Given the description of an element on the screen output the (x, y) to click on. 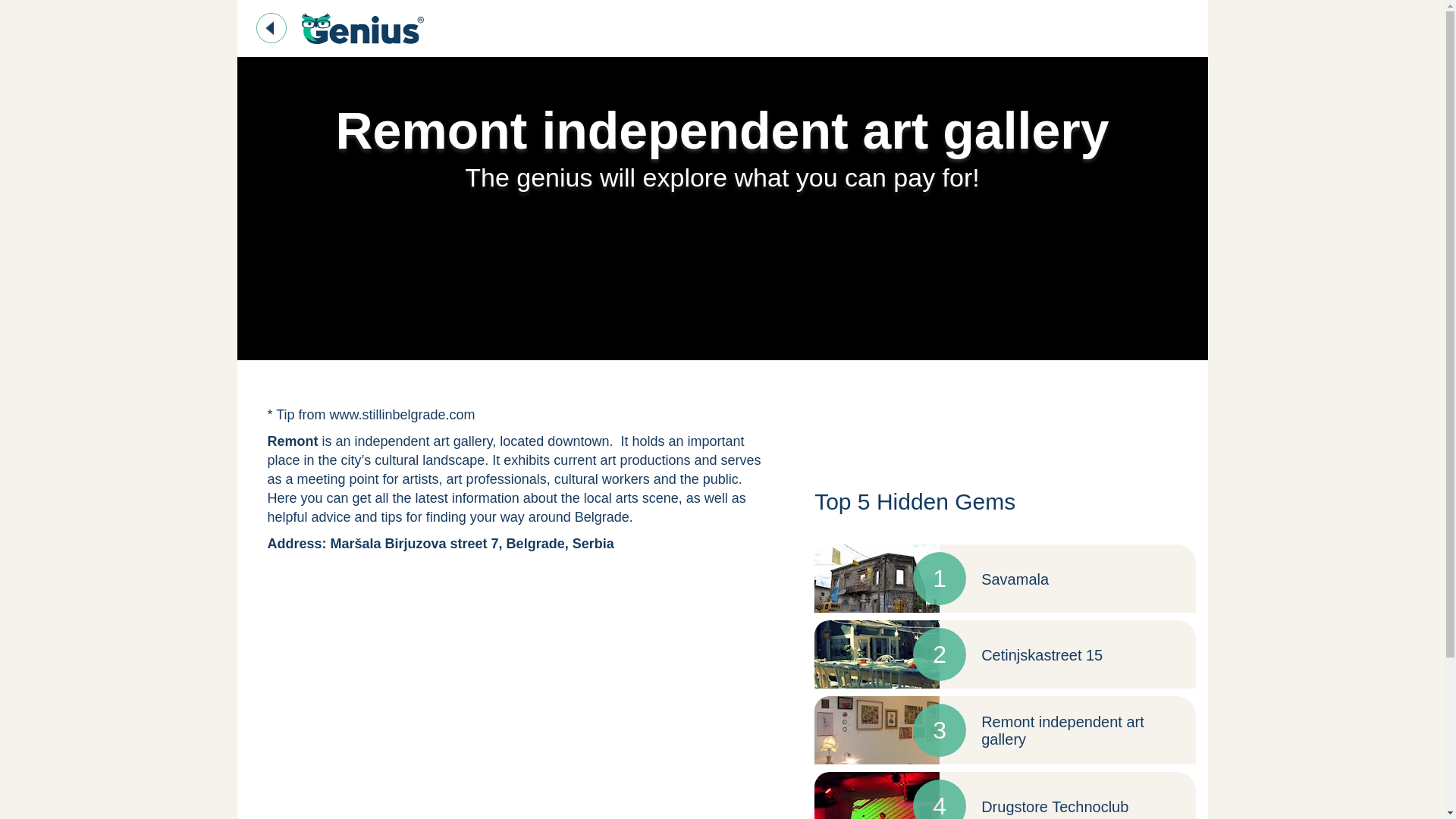
www.stillinbelgrade.com (403, 414)
Savamala (1014, 579)
Remont independent art gallery (1062, 730)
Cetinjskastreet 15 (1041, 655)
Drugstore Technoclub (1054, 806)
